Given the description of an element on the screen output the (x, y) to click on. 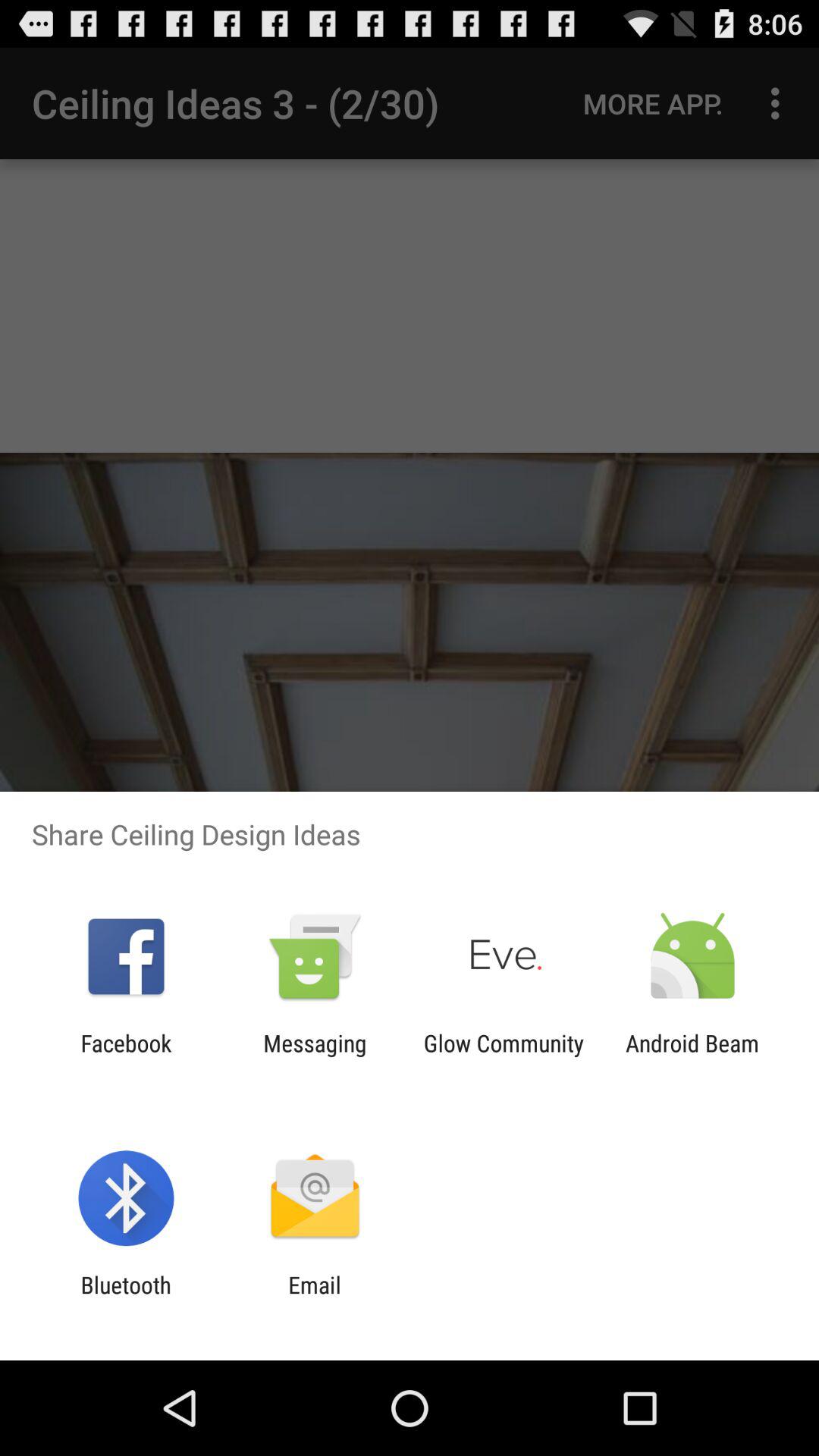
choose the icon next to email (125, 1298)
